Given the description of an element on the screen output the (x, y) to click on. 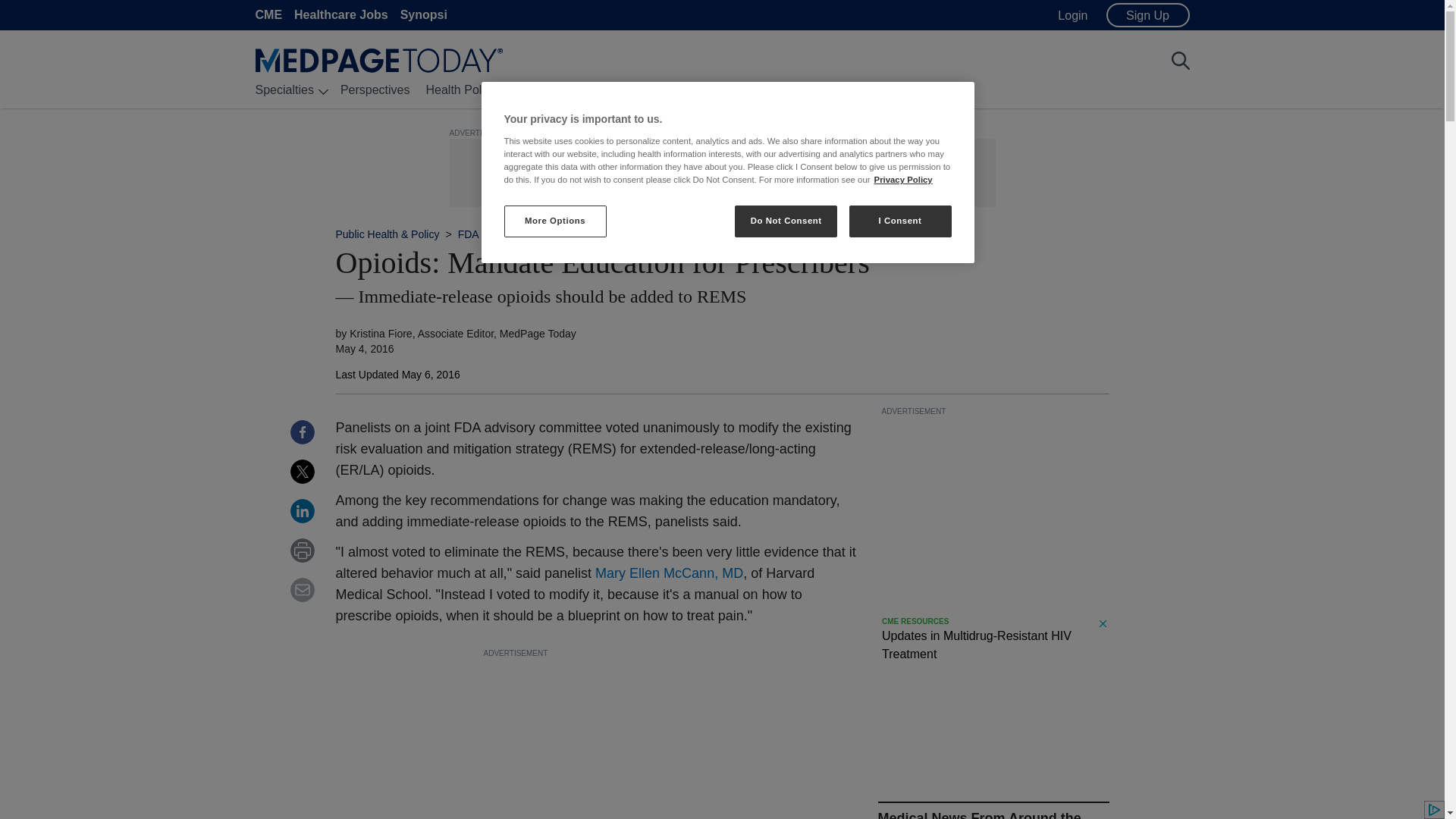
Share on X. Opens in a new tab or window (301, 471)
3rd party ad content (597, 739)
Share on Facebook. Opens in a new tab or window (301, 432)
Share on LinkedIn. Opens in a new tab or window (301, 510)
Specialties (283, 89)
CME (268, 14)
Opens in a new tab or window (668, 572)
3rd party ad content (994, 645)
Synopsi (423, 14)
3rd party ad content (724, 172)
Healthcare Jobs (341, 14)
